Given the description of an element on the screen output the (x, y) to click on. 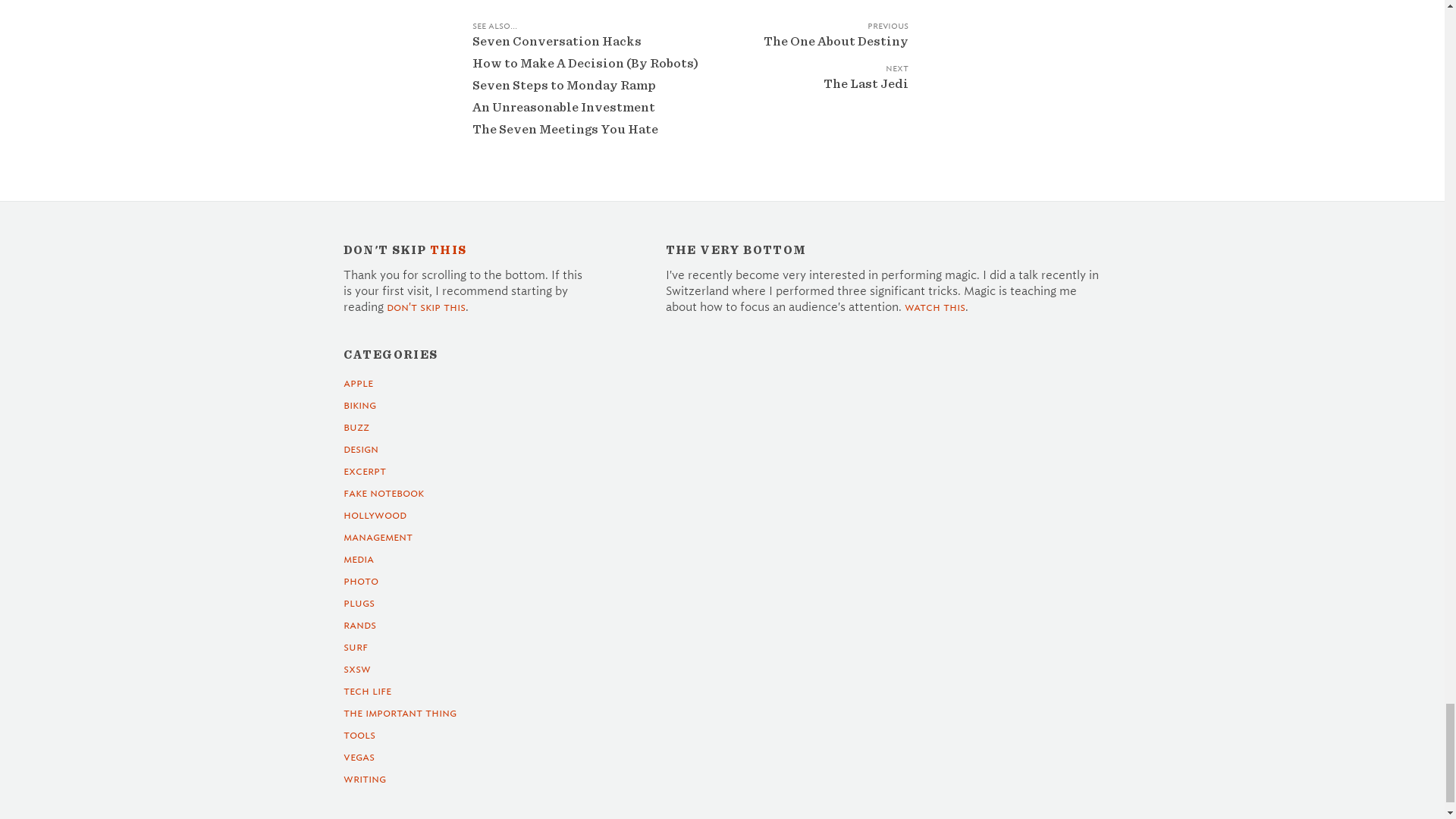
The One About Destiny (818, 51)
An Unreasonable Investment (562, 106)
The Seven Meetings You Hate (564, 128)
Seven Steps to Monday Ramp (563, 84)
The Last Jedi (818, 94)
Seven Conversation Hacks (555, 41)
